Given the description of an element on the screen output the (x, y) to click on. 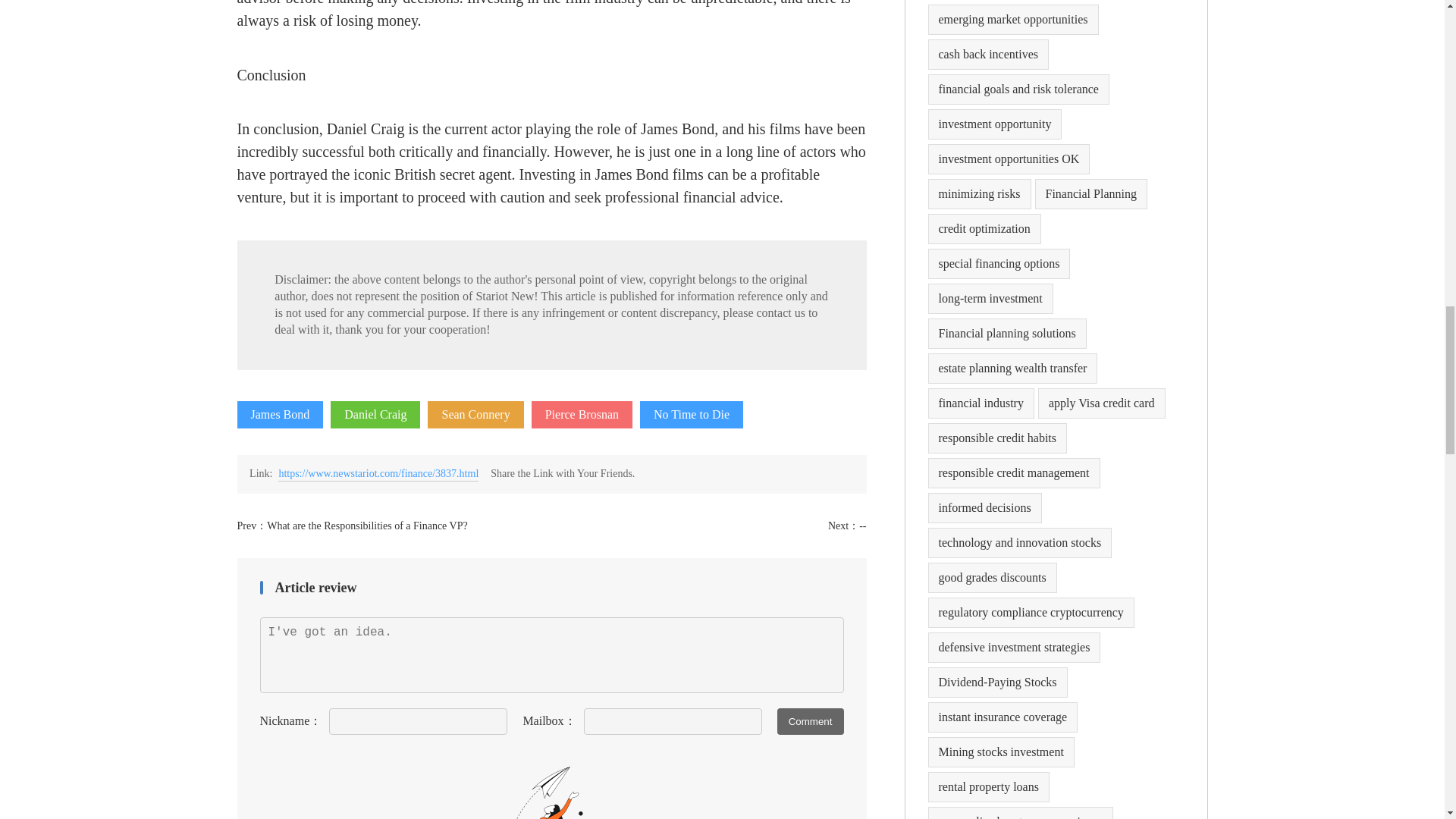
James Bond (279, 414)
No Time to Die (691, 414)
Daniel Craig (375, 414)
Comment (810, 721)
No Time to Die (691, 414)
What are the Responsibilities of a Finance VP? (366, 525)
Pierce Brosnan (581, 414)
Daniel Craig (375, 414)
Pierce Brosnan (581, 414)
Sean Connery (475, 414)
